Given the description of an element on the screen output the (x, y) to click on. 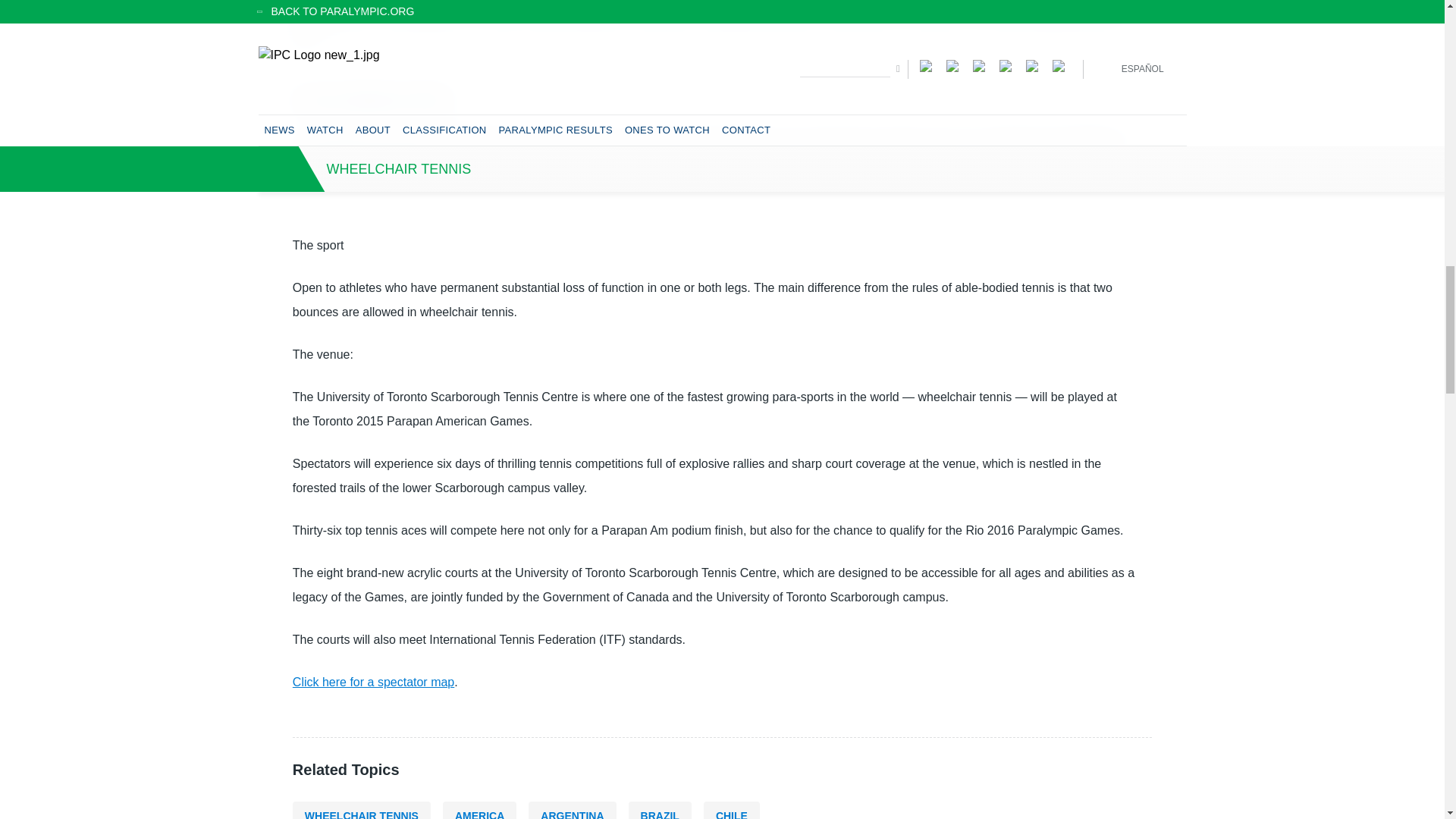
BRAZIL (659, 810)
ARGENTINA (571, 810)
CHILE (731, 810)
AMERICA (479, 810)
Click here for a spectator map (373, 681)
WHEELCHAIR TENNIS (361, 810)
